Given the description of an element on the screen output the (x, y) to click on. 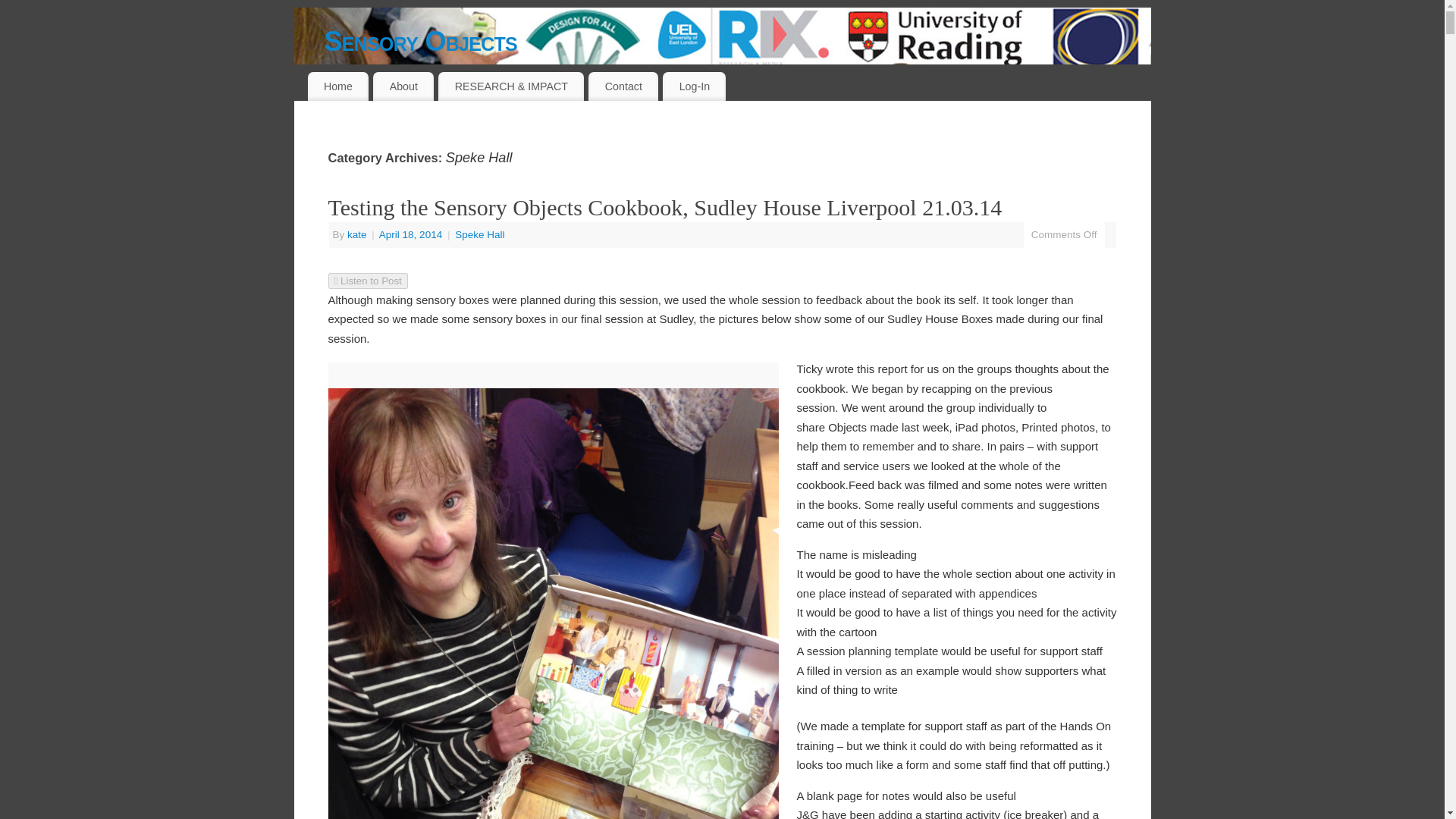
Speke Hall (478, 234)
Log-In (693, 86)
April 18, 2014 (411, 234)
7:00 pm (411, 234)
Sensory Objects (737, 41)
kate (356, 234)
Sensory Objects (737, 41)
Contact (623, 86)
View all posts by kate (356, 234)
Home (338, 86)
About (402, 86)
